Given the description of an element on the screen output the (x, y) to click on. 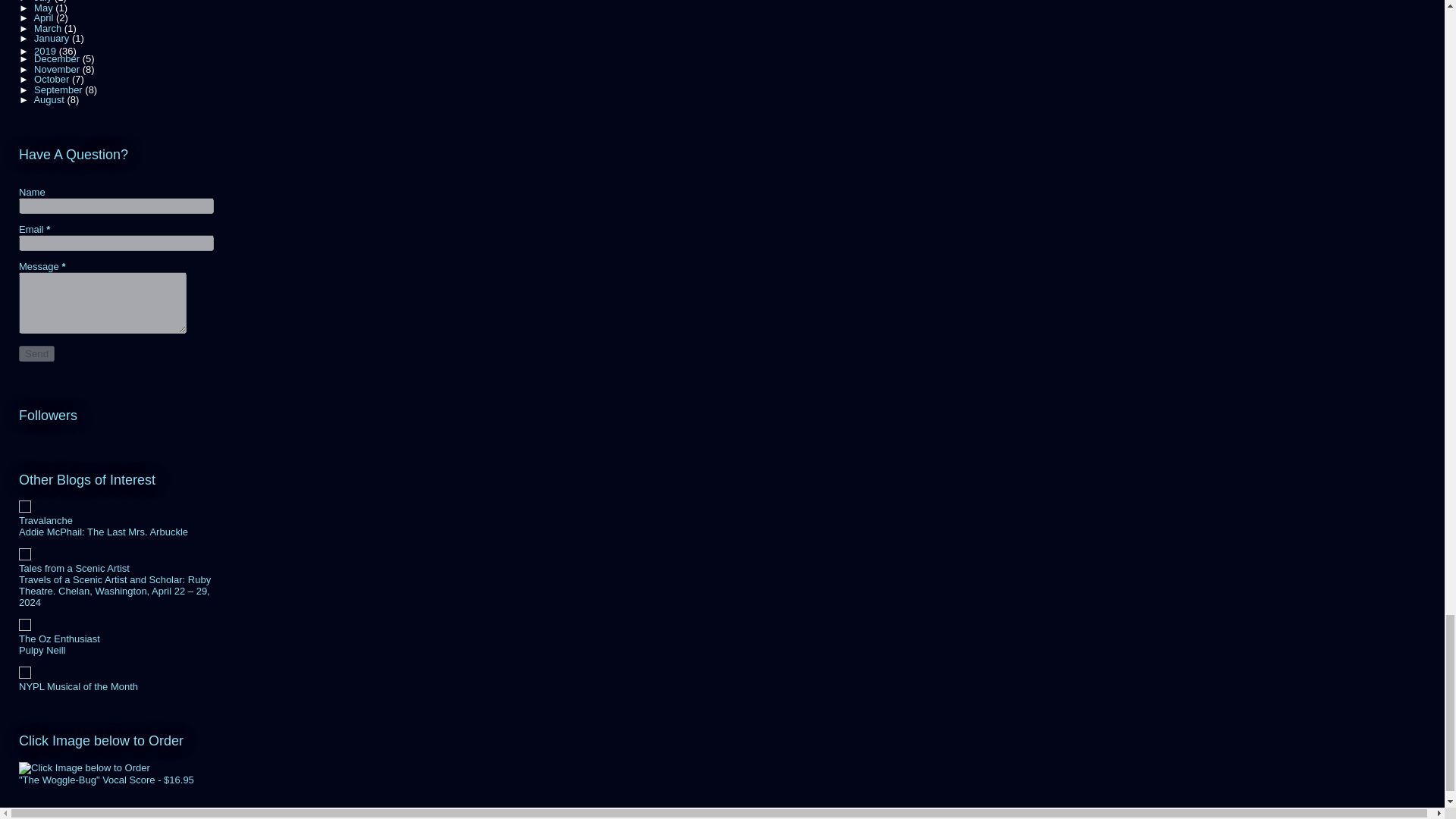
Send (36, 353)
